Given the description of an element on the screen output the (x, y) to click on. 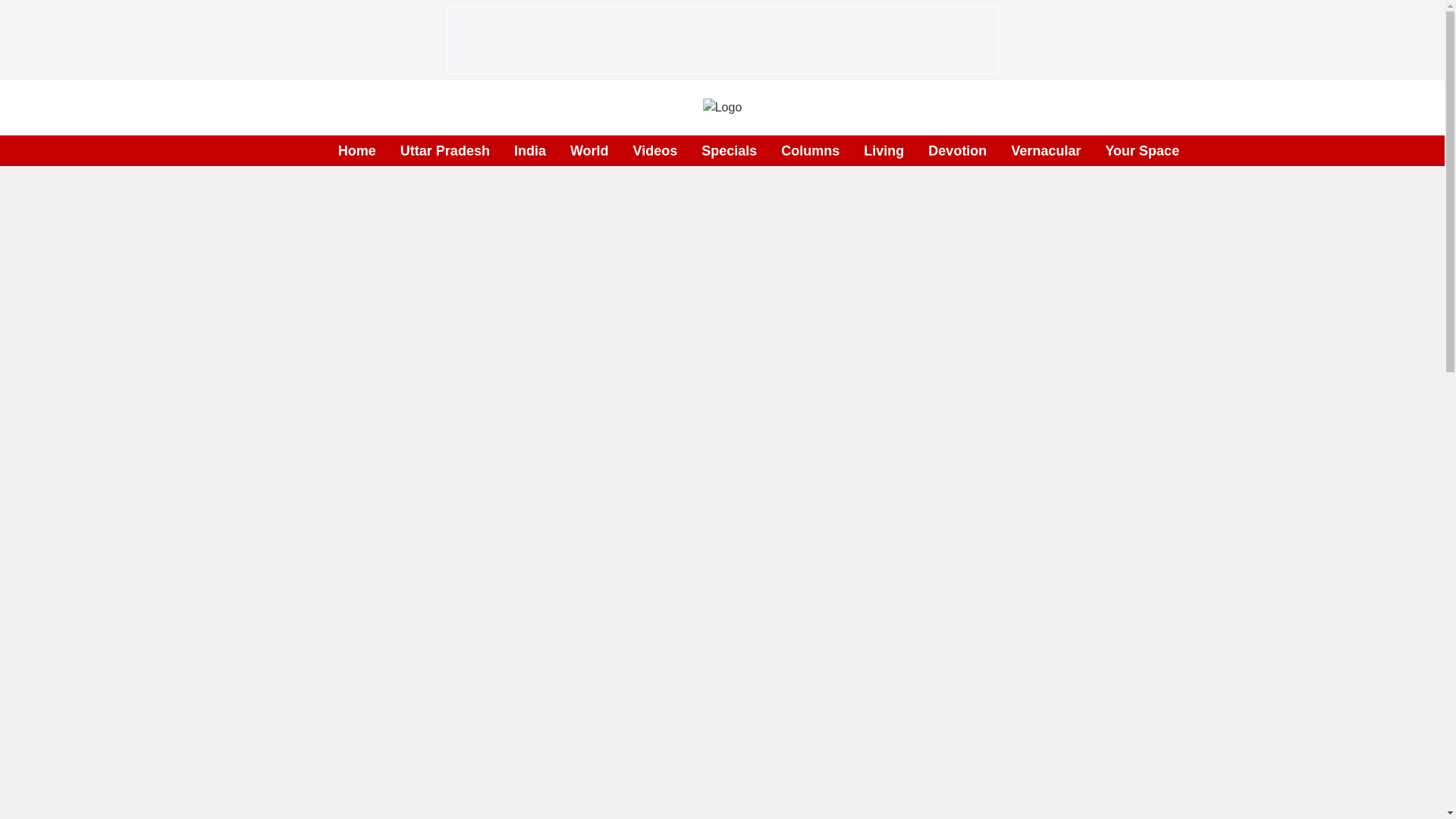
India (529, 150)
Home (356, 150)
World (589, 150)
Specials (729, 150)
Living (883, 150)
Devotion (957, 150)
Columns (810, 150)
Vernacular (1045, 150)
Uttar Pradesh (444, 150)
Your Space (1142, 150)
